Given the description of an element on the screen output the (x, y) to click on. 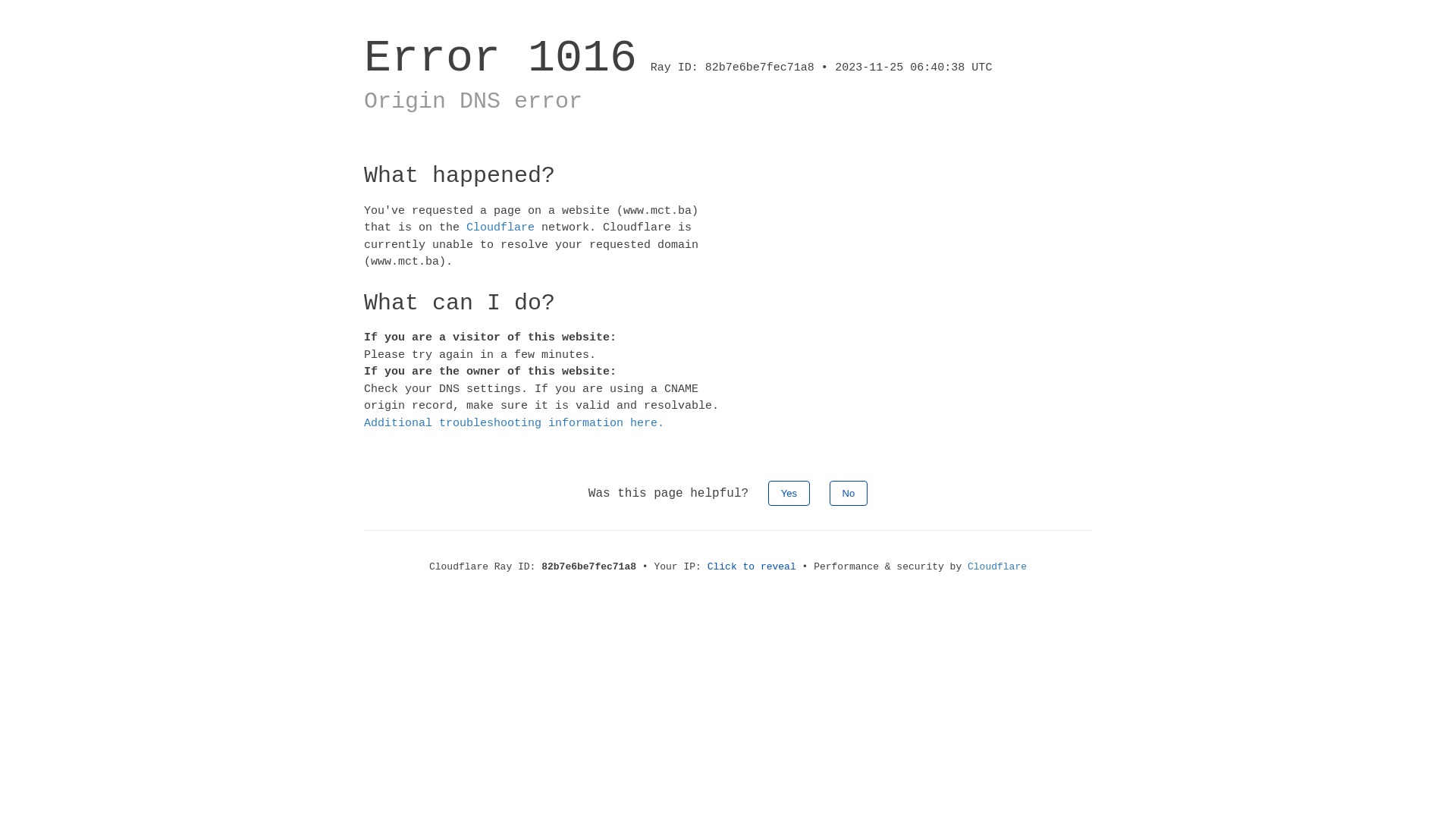
Click to reveal Element type: text (751, 566)
Additional troubleshooting information here. Element type: text (514, 423)
Yes Element type: text (788, 492)
Cloudflare Element type: text (996, 566)
Cloudflare Element type: text (500, 227)
No Element type: text (848, 492)
